Given the description of an element on the screen output the (x, y) to click on. 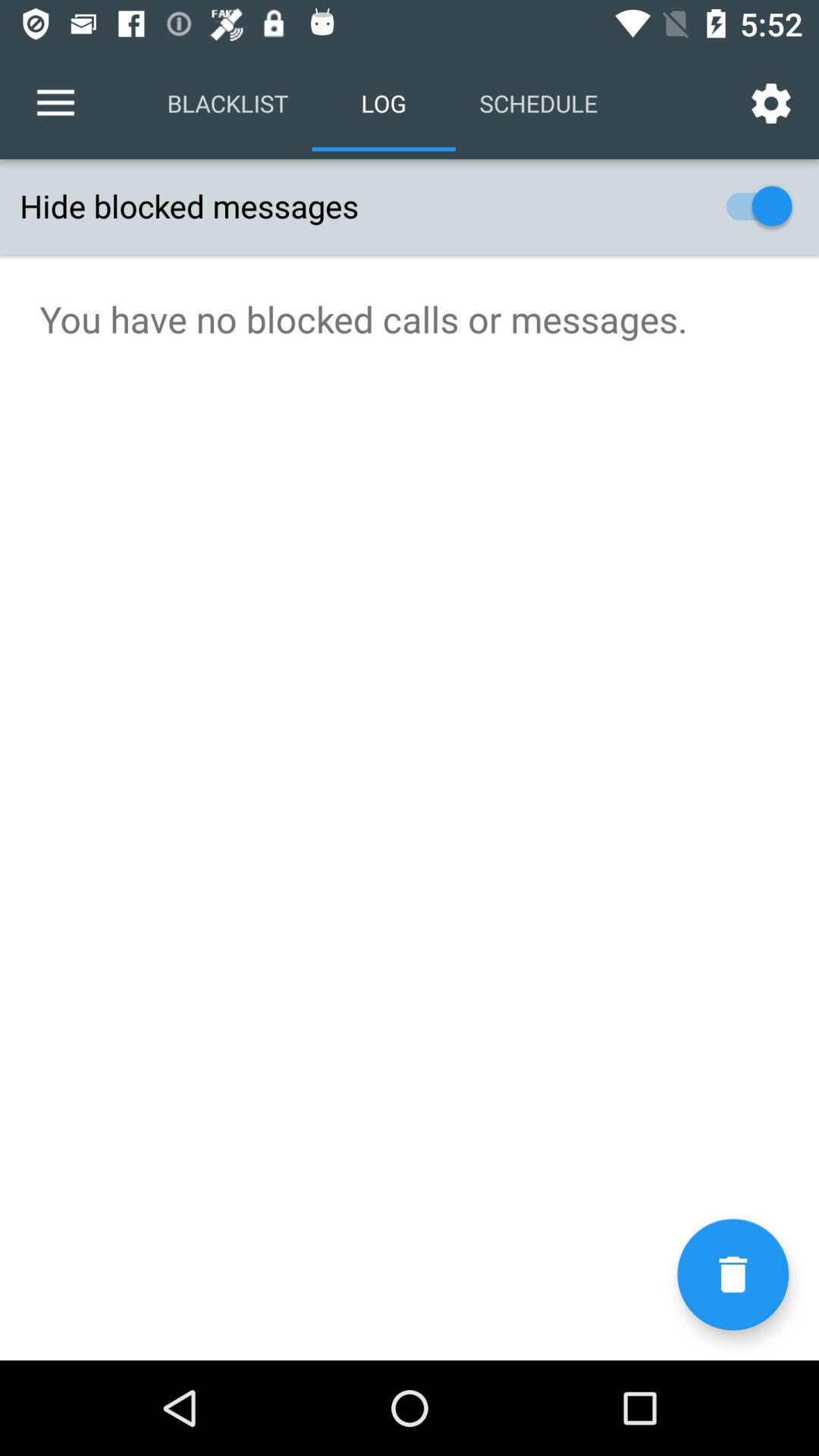
click the icon next to the blacklist icon (55, 103)
